Given the description of an element on the screen output the (x, y) to click on. 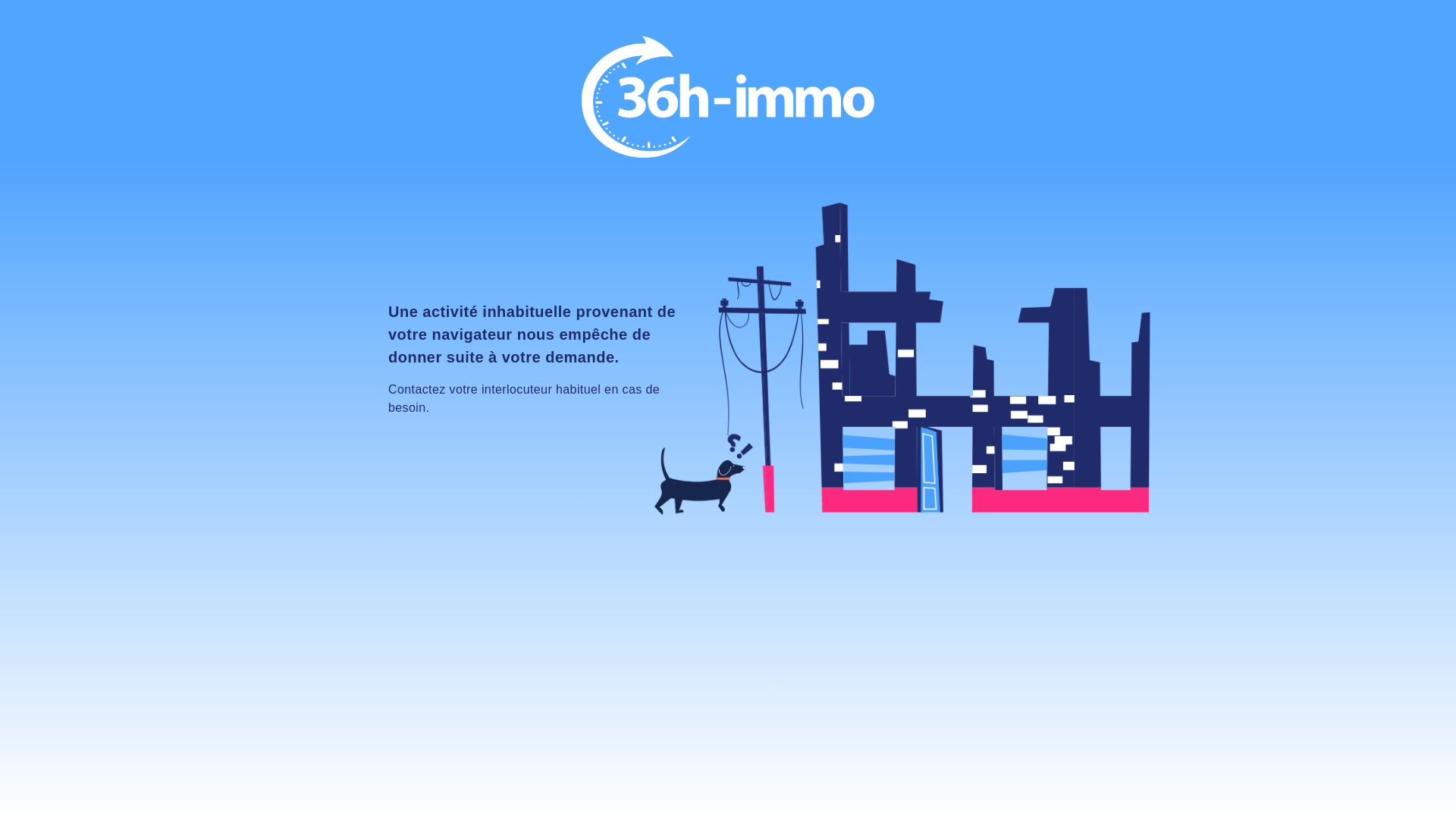
Accueil Element type: hover (728, 96)
